Given the description of an element on the screen output the (x, y) to click on. 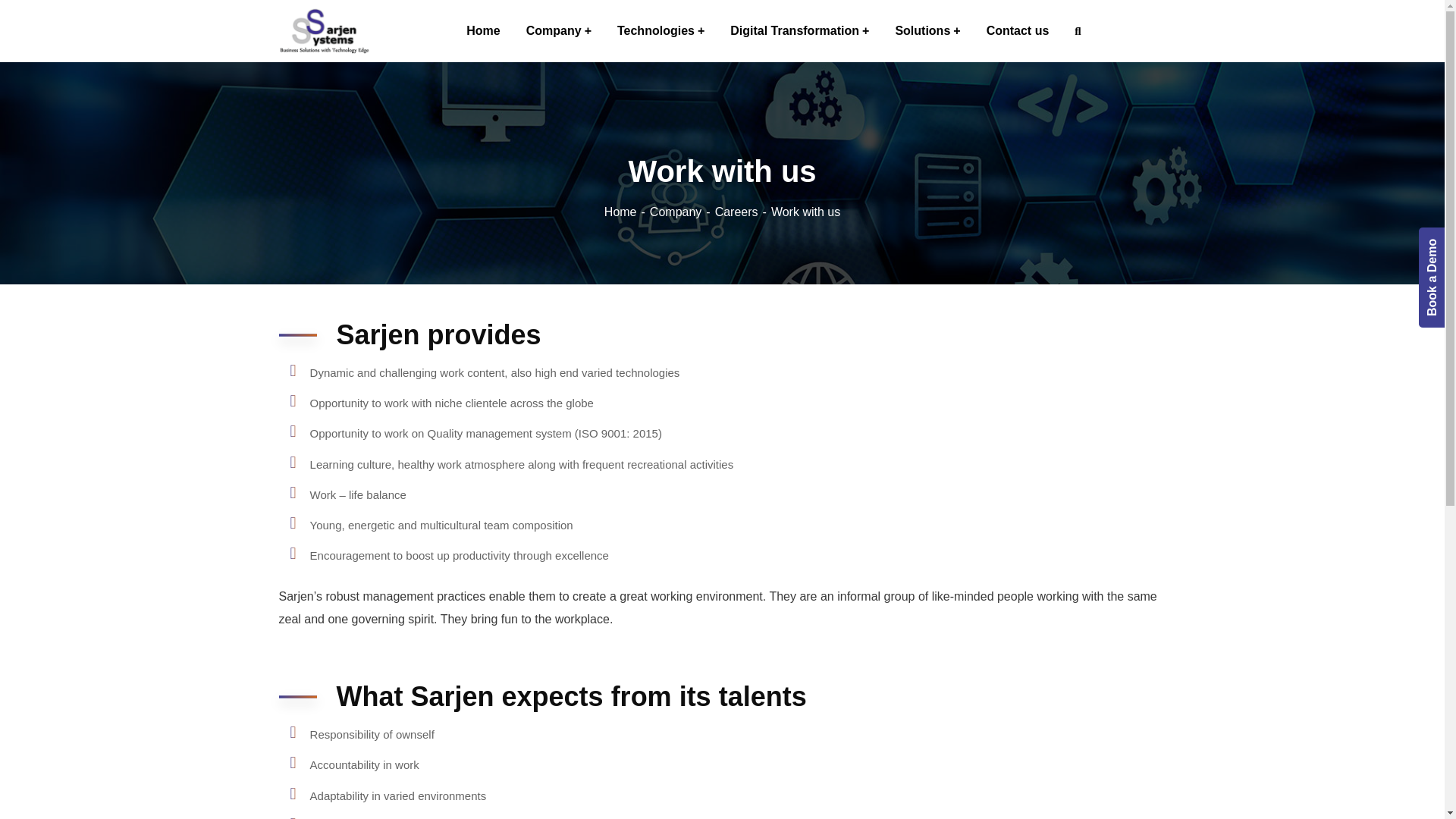
Company (558, 31)
Business and GxP compliant solutions, services by Sarjen (325, 29)
Technologies (660, 31)
